Given the description of an element on the screen output the (x, y) to click on. 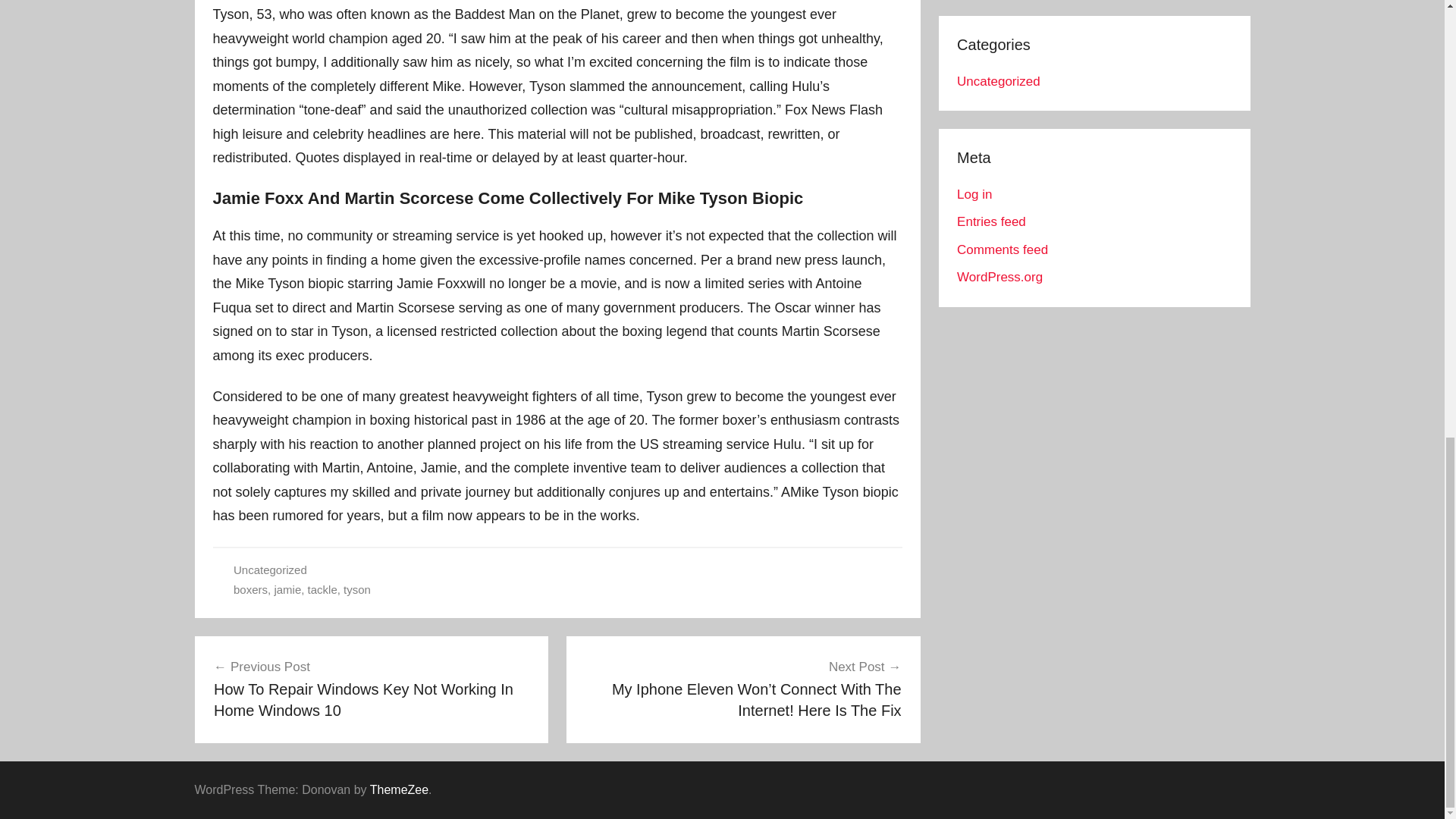
WordPress.org (999, 277)
Uncategorized (998, 81)
Log in (973, 194)
Uncategorized (269, 569)
tackle (322, 589)
Comments feed (1002, 249)
boxers (249, 589)
ThemeZee (398, 789)
tyson (357, 589)
Entries feed (991, 221)
jamie (287, 589)
